Given the description of an element on the screen output the (x, y) to click on. 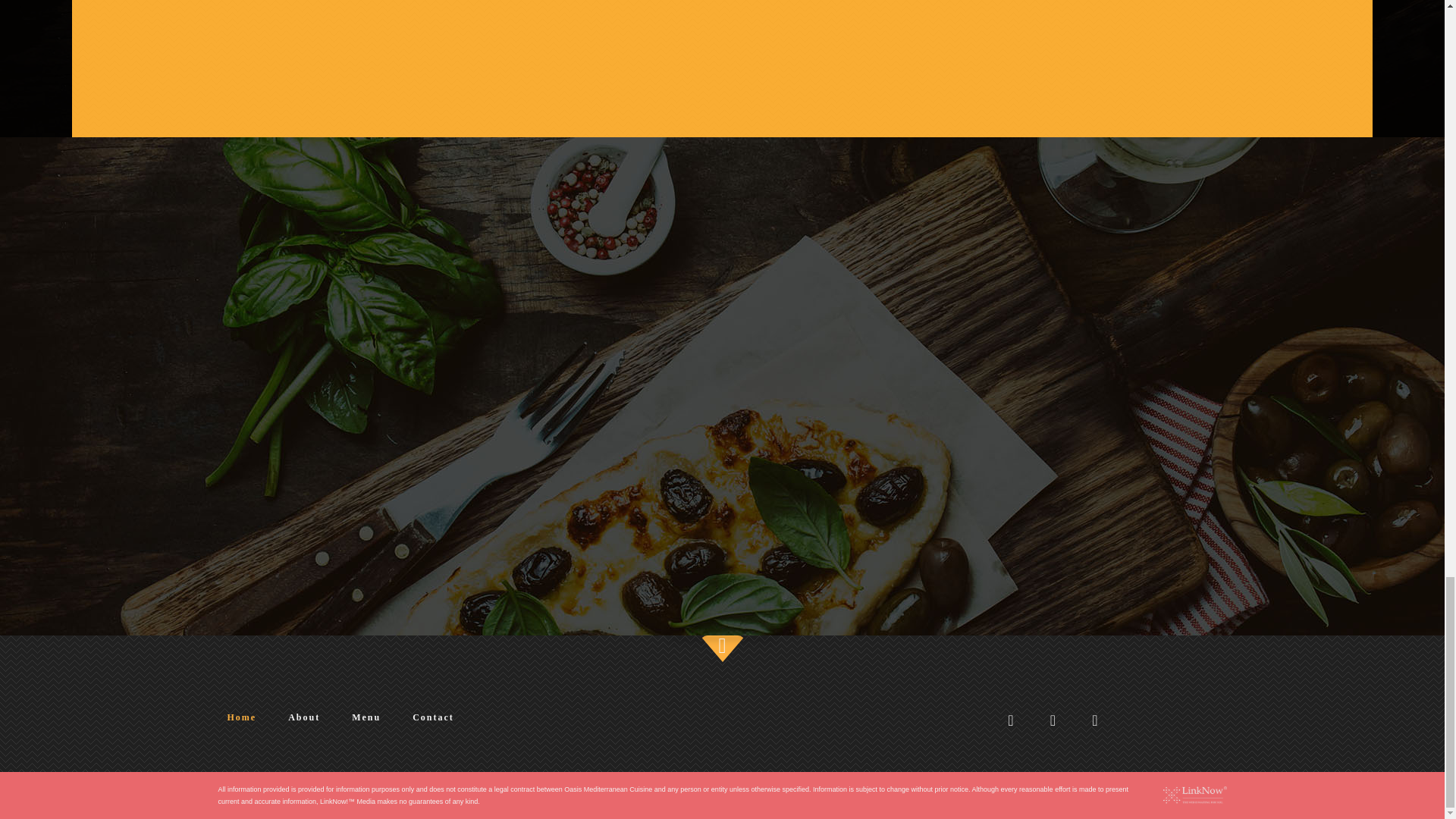
About (304, 717)
Menu (366, 717)
Home (242, 717)
Contact (433, 717)
